Given the description of an element on the screen output the (x, y) to click on. 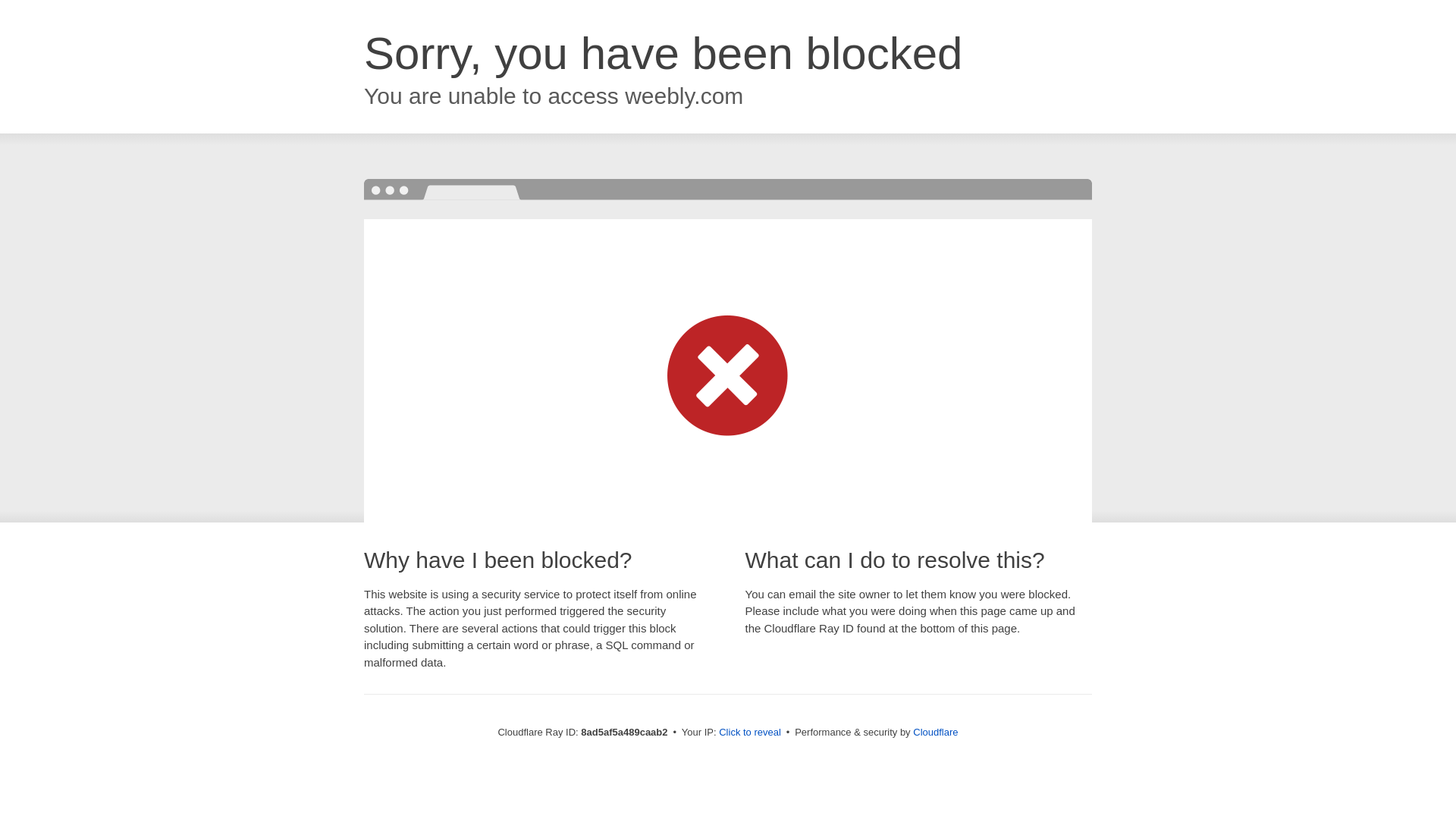
Click to reveal (749, 732)
Cloudflare (935, 731)
